Given the description of an element on the screen output the (x, y) to click on. 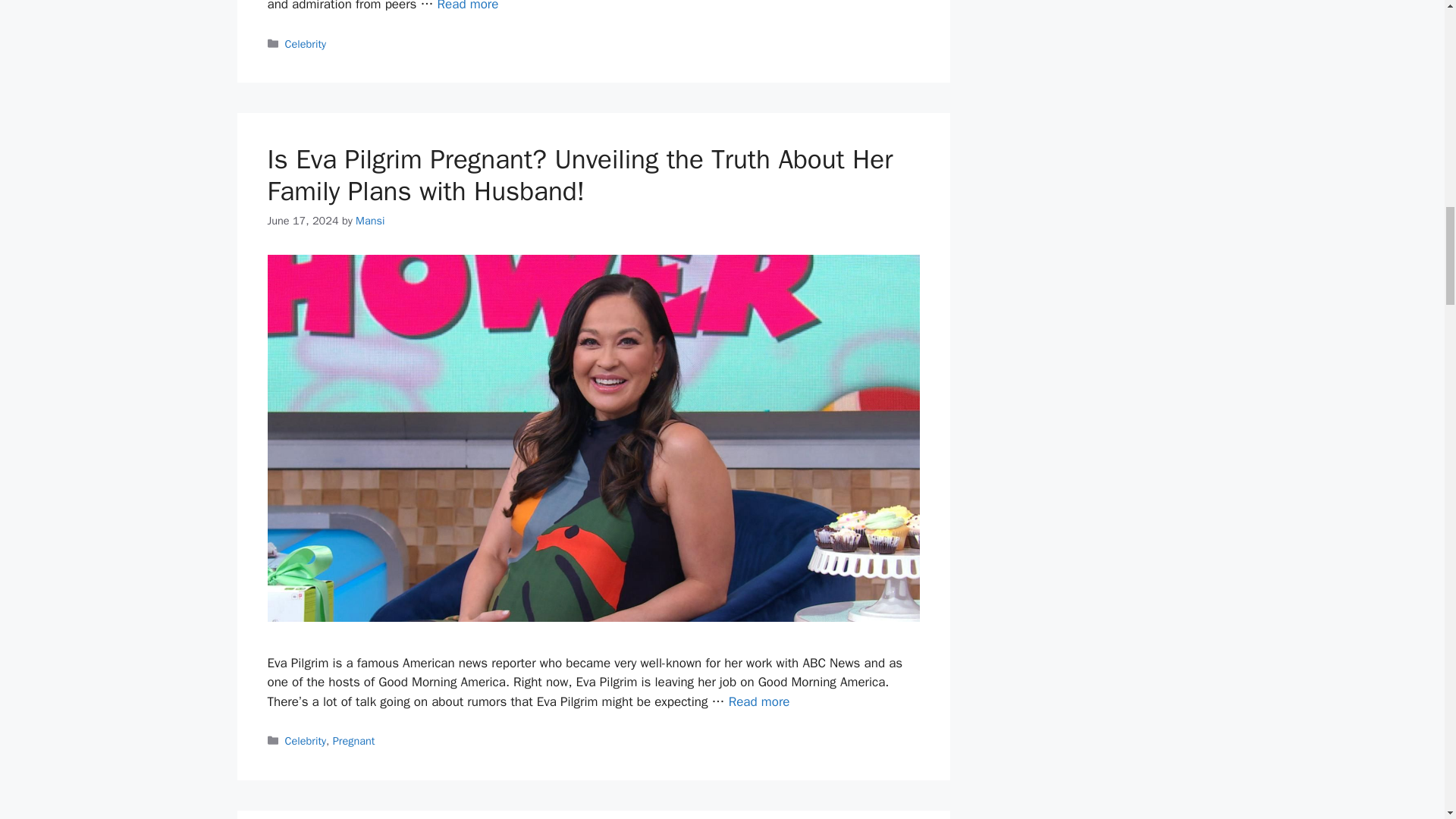
Read more (468, 6)
Mansi (369, 220)
Celebrity (305, 43)
Pregnant (354, 740)
View all posts by Mansi (369, 220)
Read more (759, 701)
Celebrity (305, 740)
